Given the description of an element on the screen output the (x, y) to click on. 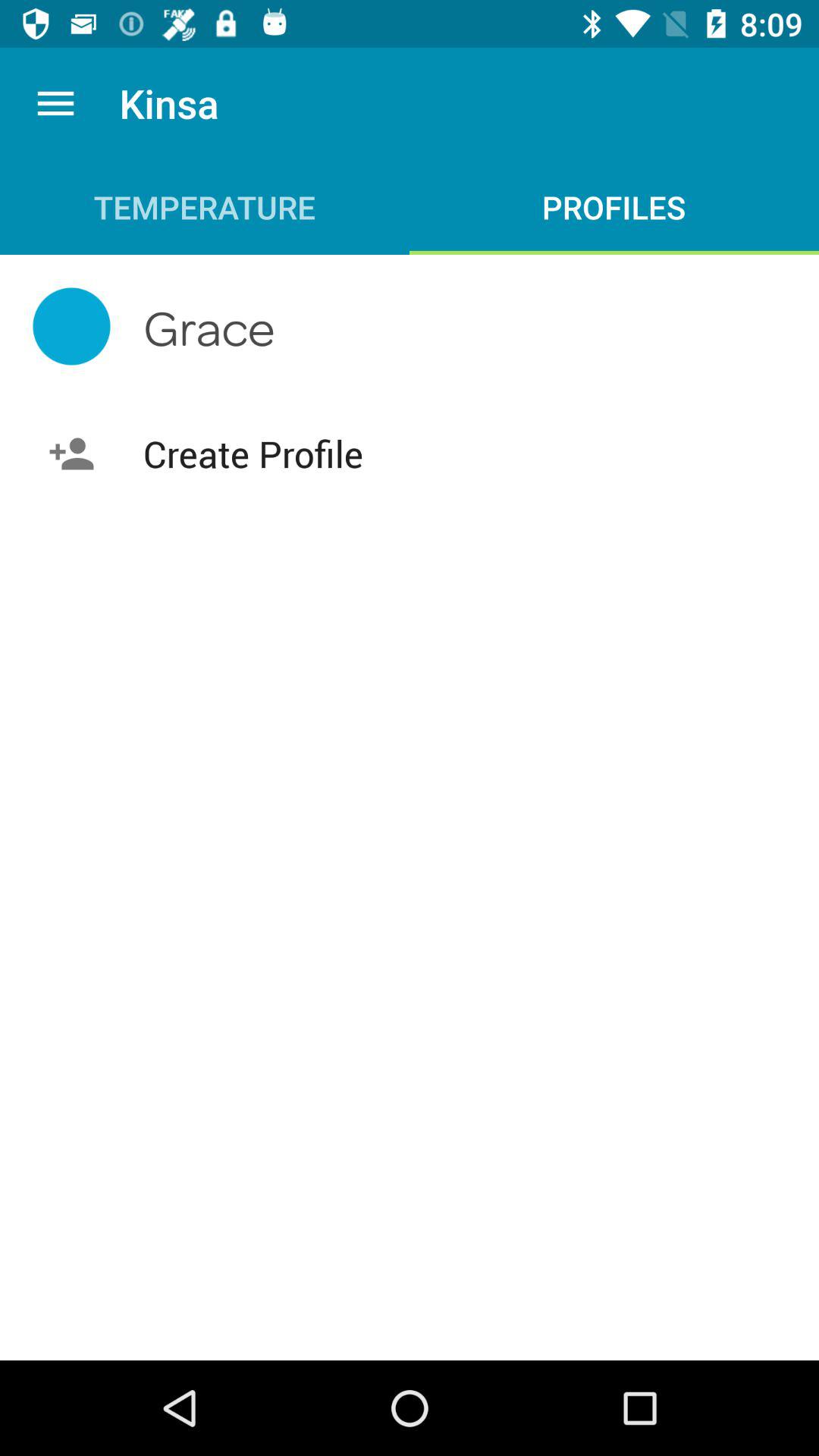
scroll to the create profile icon (409, 453)
